Given the description of an element on the screen output the (x, y) to click on. 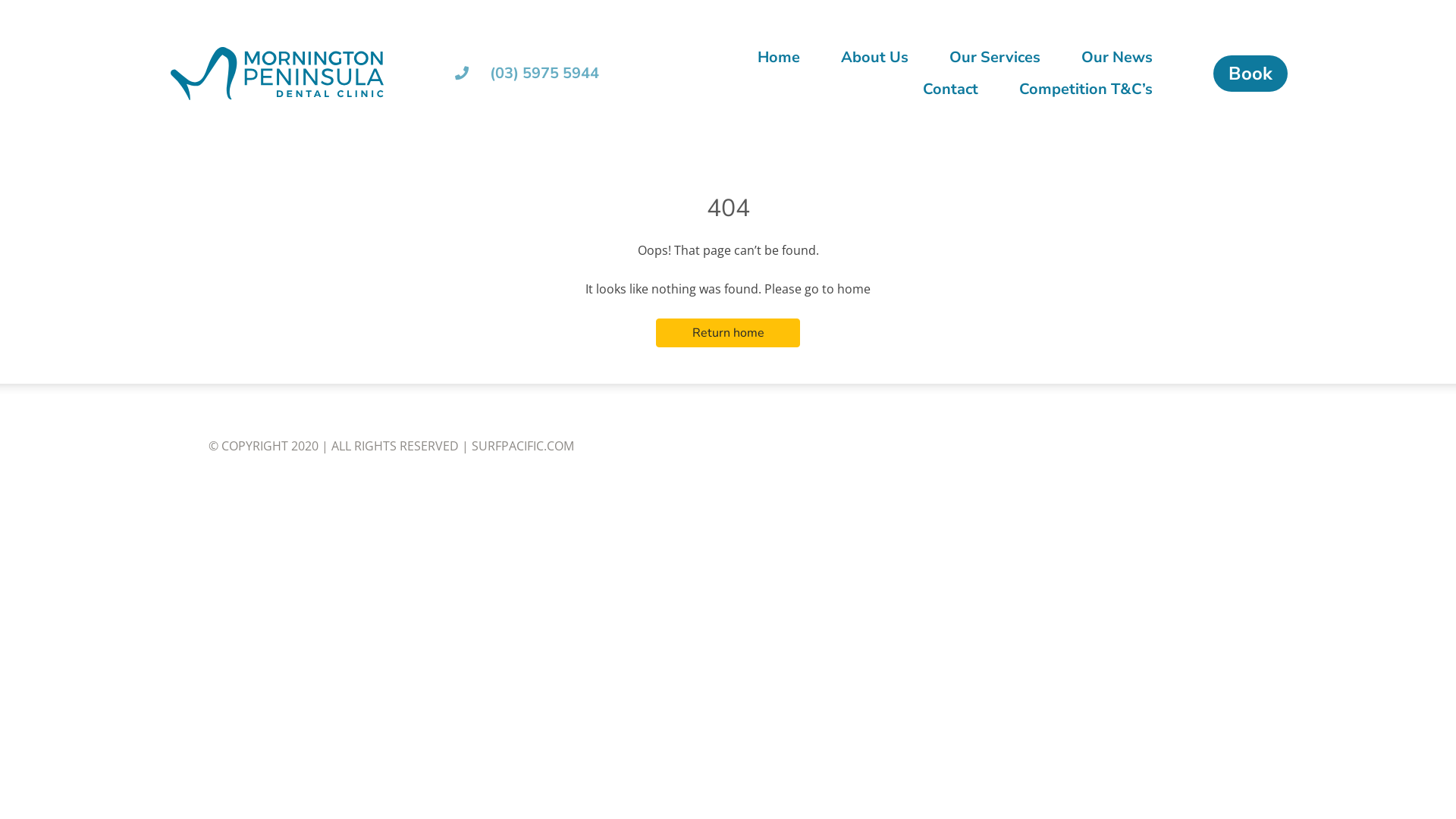
Our News Element type: text (1116, 57)
Book Element type: text (1250, 73)
Return home Element type: text (727, 332)
Our Services Element type: text (994, 57)
Home Element type: text (778, 57)
(03) 5975 5944 Element type: text (527, 72)
About Us Element type: text (874, 57)
Contact Element type: text (950, 89)
